Given the description of an element on the screen output the (x, y) to click on. 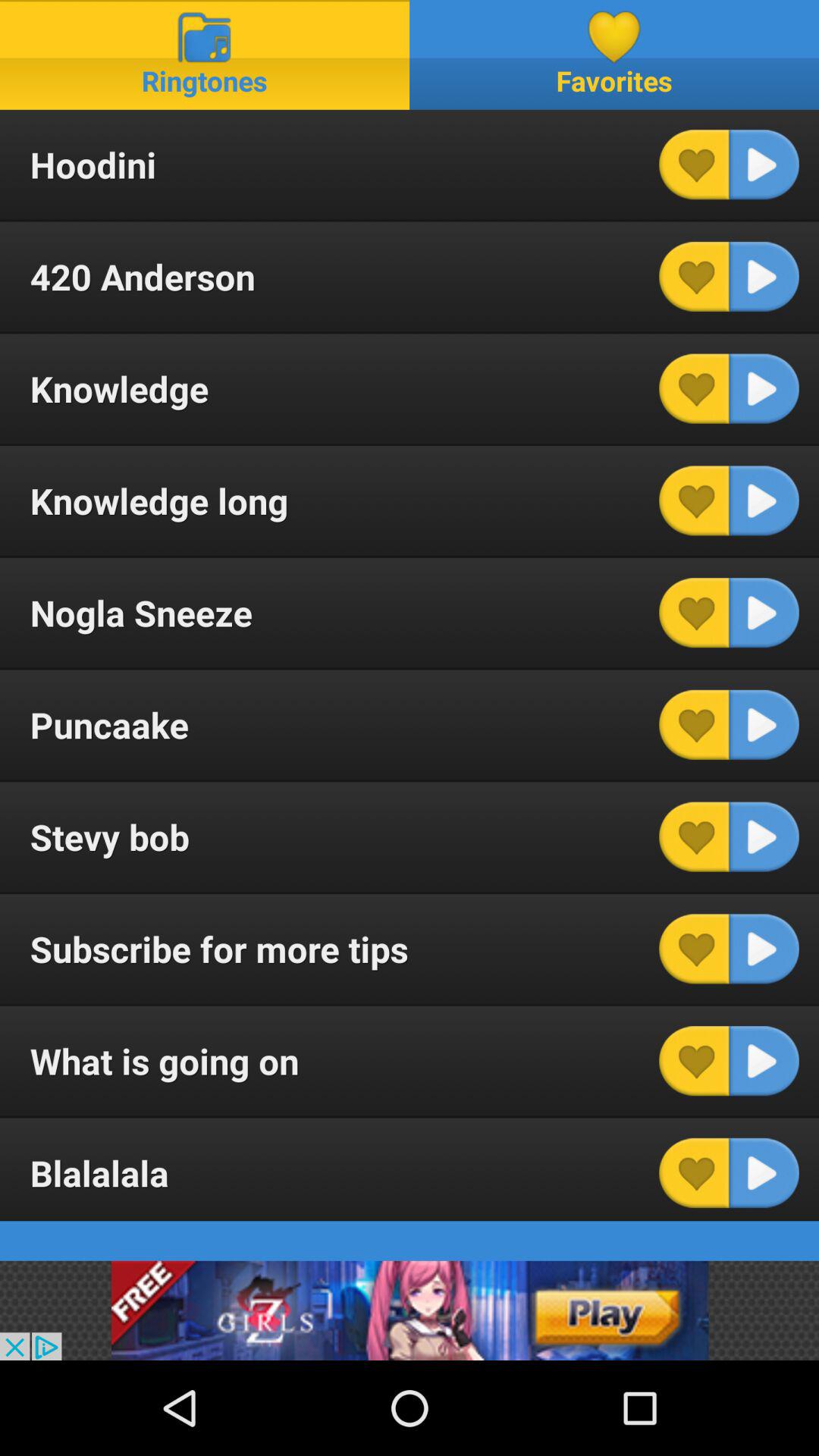
add ringtone to favorites (694, 1060)
